Given the description of an element on the screen output the (x, y) to click on. 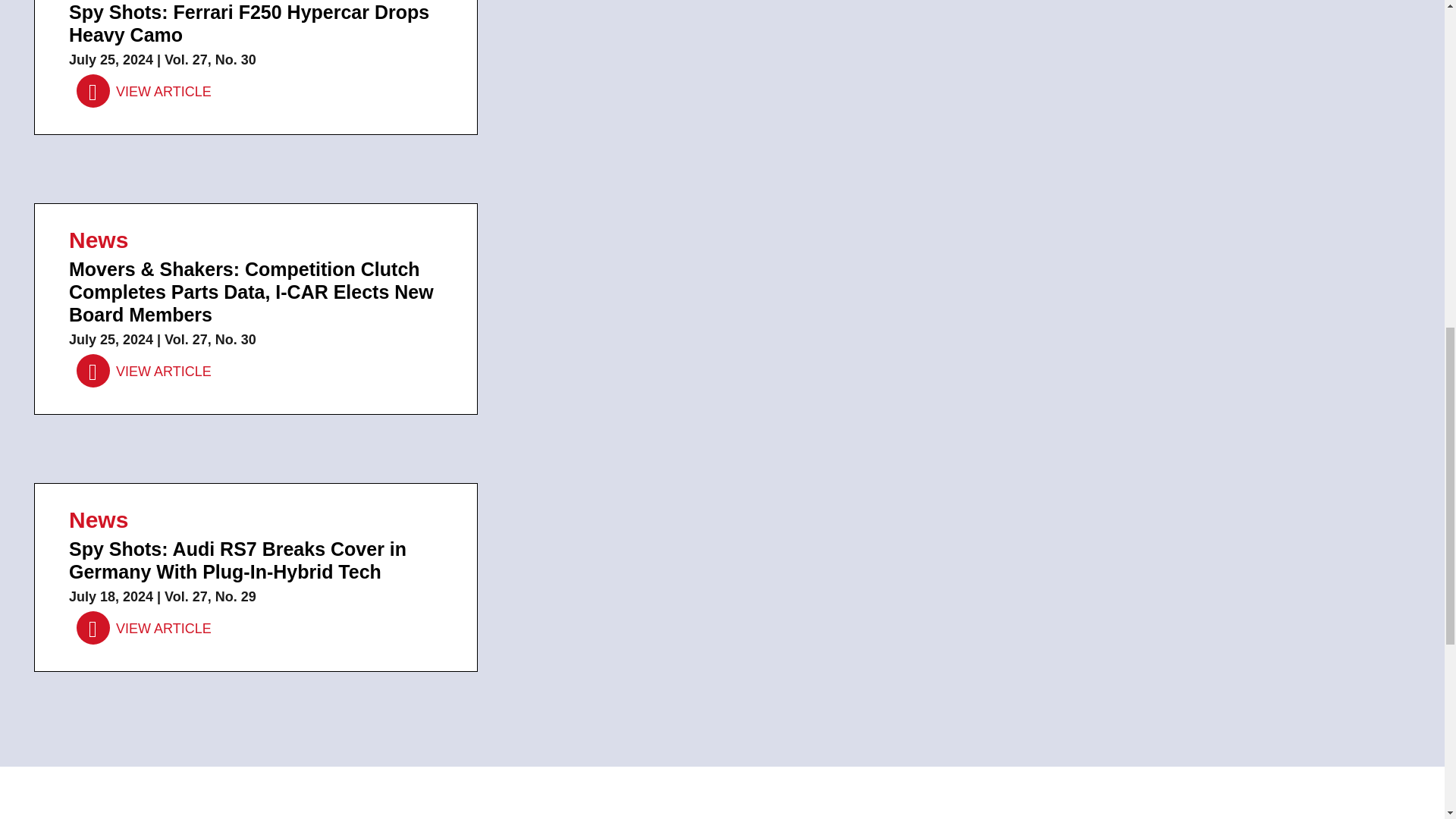
VIEW ARTICLE (143, 371)
Spy Shots: Ferrari F250 Hypercar Drops Heavy Camo (143, 91)
VIEW ARTICLE (143, 91)
VIEW ARTICLE (143, 628)
